Given the description of an element on the screen output the (x, y) to click on. 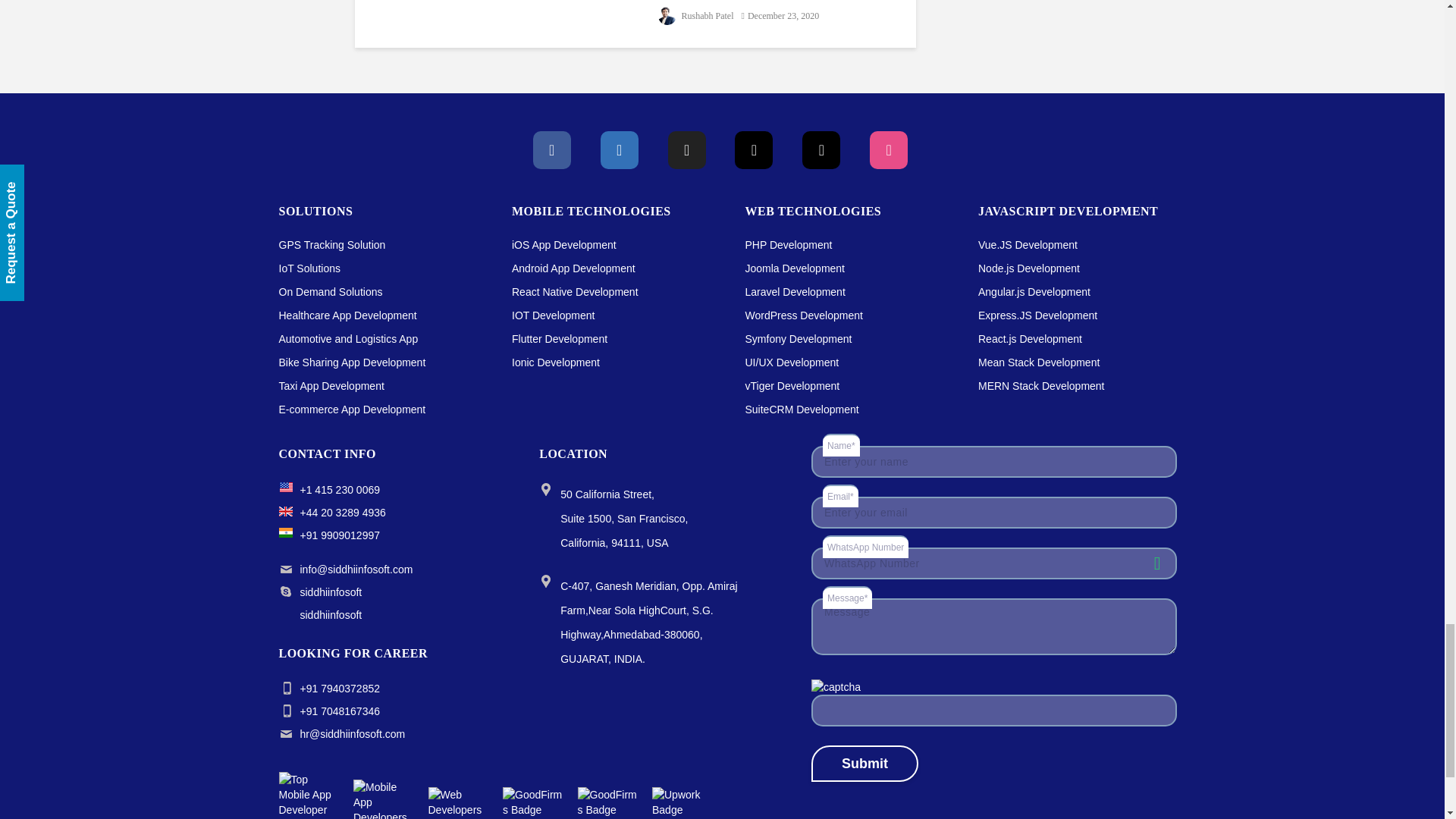
Submit (864, 763)
Facebook (551, 149)
